Given the description of an element on the screen output the (x, y) to click on. 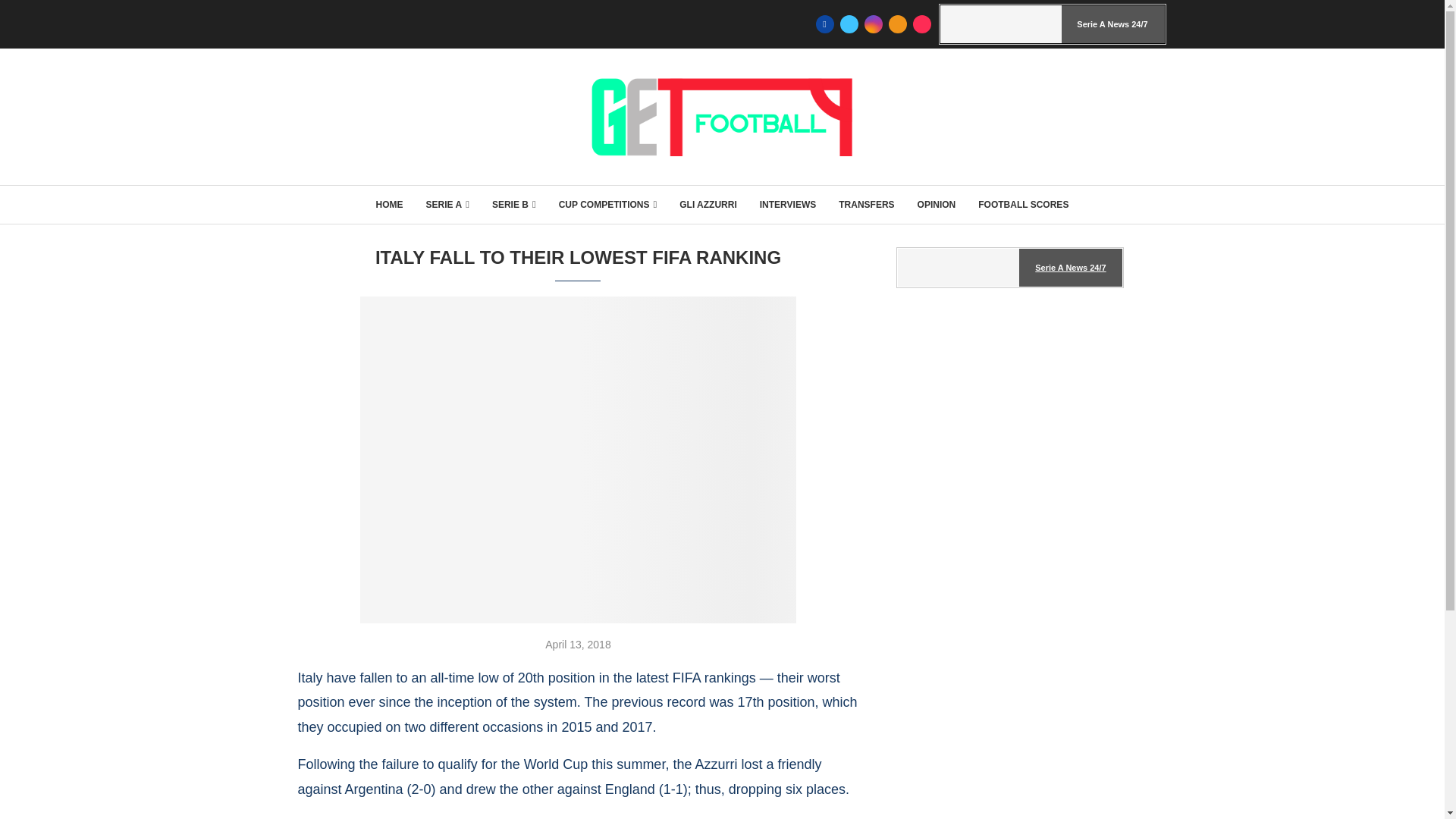
Click here for more Italian football news from NewsNow (1010, 267)
HOME (389, 204)
SERIE B (513, 204)
Click here for more Italian football news from NewsNow (1052, 24)
SERIE A (447, 204)
